Given the description of an element on the screen output the (x, y) to click on. 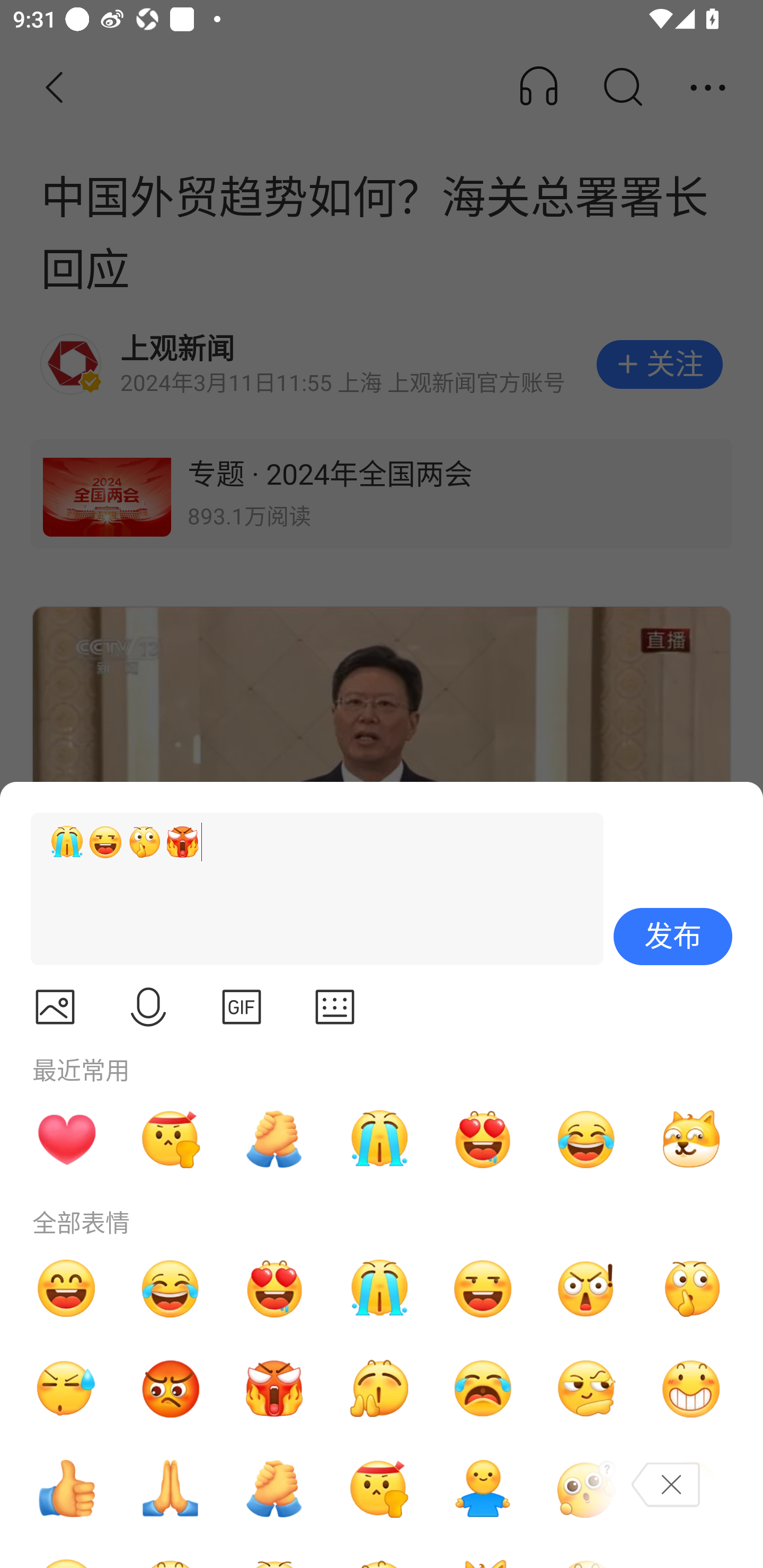
[哭][嘿嘿][嘘][愤怒] (308, 888)
发布 (672, 936)
 (54, 1007)
 (148, 1007)
 (241, 1007)
 (334, 1007)
心 (66, 1138)
奋斗 (170, 1138)
加油 (274, 1138)
哭 (378, 1138)
喜欢 (482, 1138)
哭笑 (586, 1138)
奸笑 (690, 1138)
哈哈 (66, 1288)
哭笑 (170, 1288)
喜欢 (274, 1288)
哭 (378, 1288)
嘿嘿 (482, 1288)
吃惊 (586, 1288)
嘘 (690, 1288)
汗 (66, 1389)
生气 (170, 1389)
愤怒 (274, 1389)
喝彩 (378, 1389)
抓狂 (482, 1389)
机智 (586, 1389)
坏笑 (690, 1389)
点赞 (66, 1488)
缅怀 (170, 1488)
加油 (274, 1488)
奋斗 (378, 1488)
抱抱 (482, 1488)
疑问 (586, 1488)
捂脸 (690, 1488)
